Given the description of an element on the screen output the (x, y) to click on. 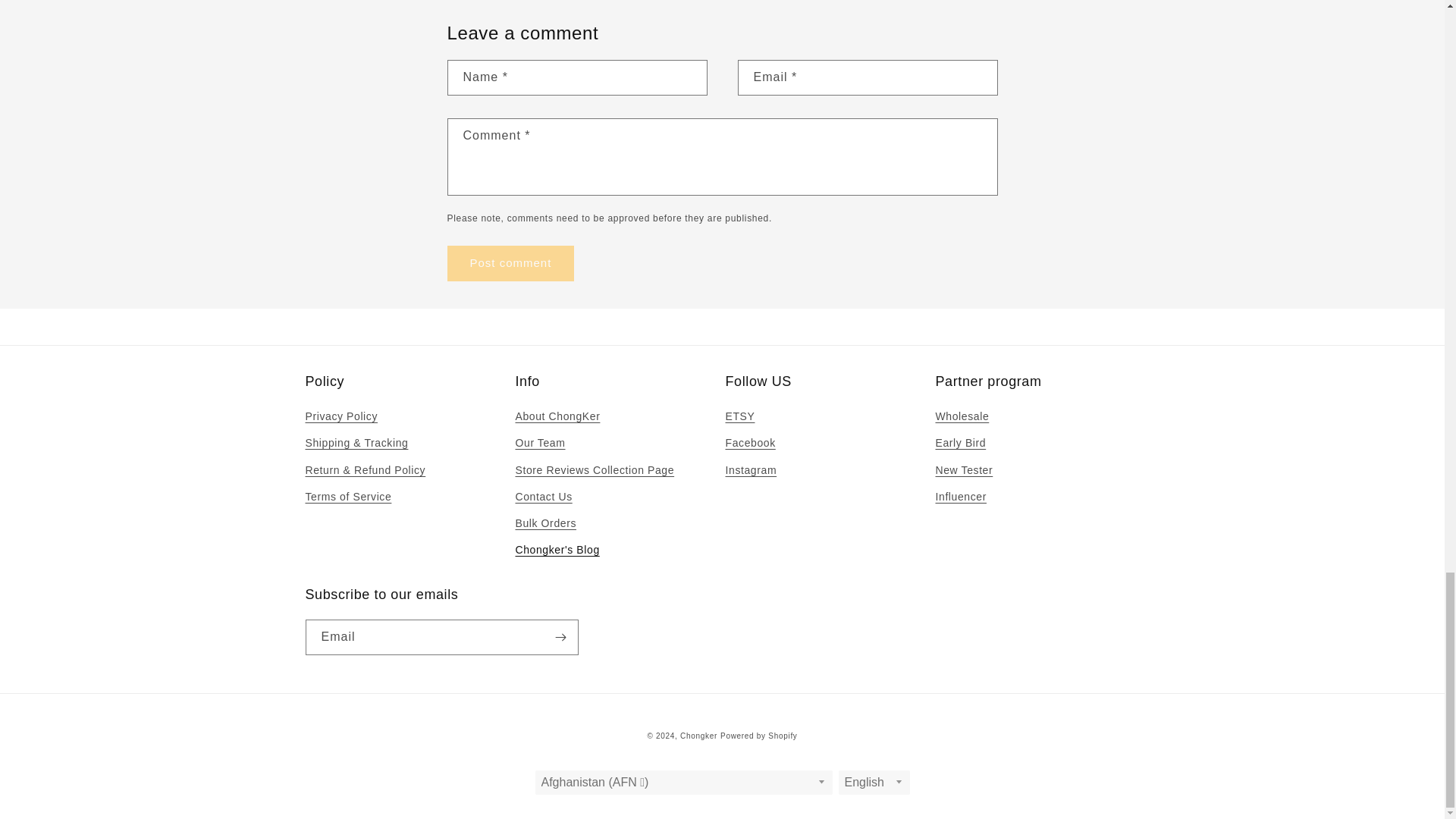
Post comment (510, 263)
